Given the description of an element on the screen output the (x, y) to click on. 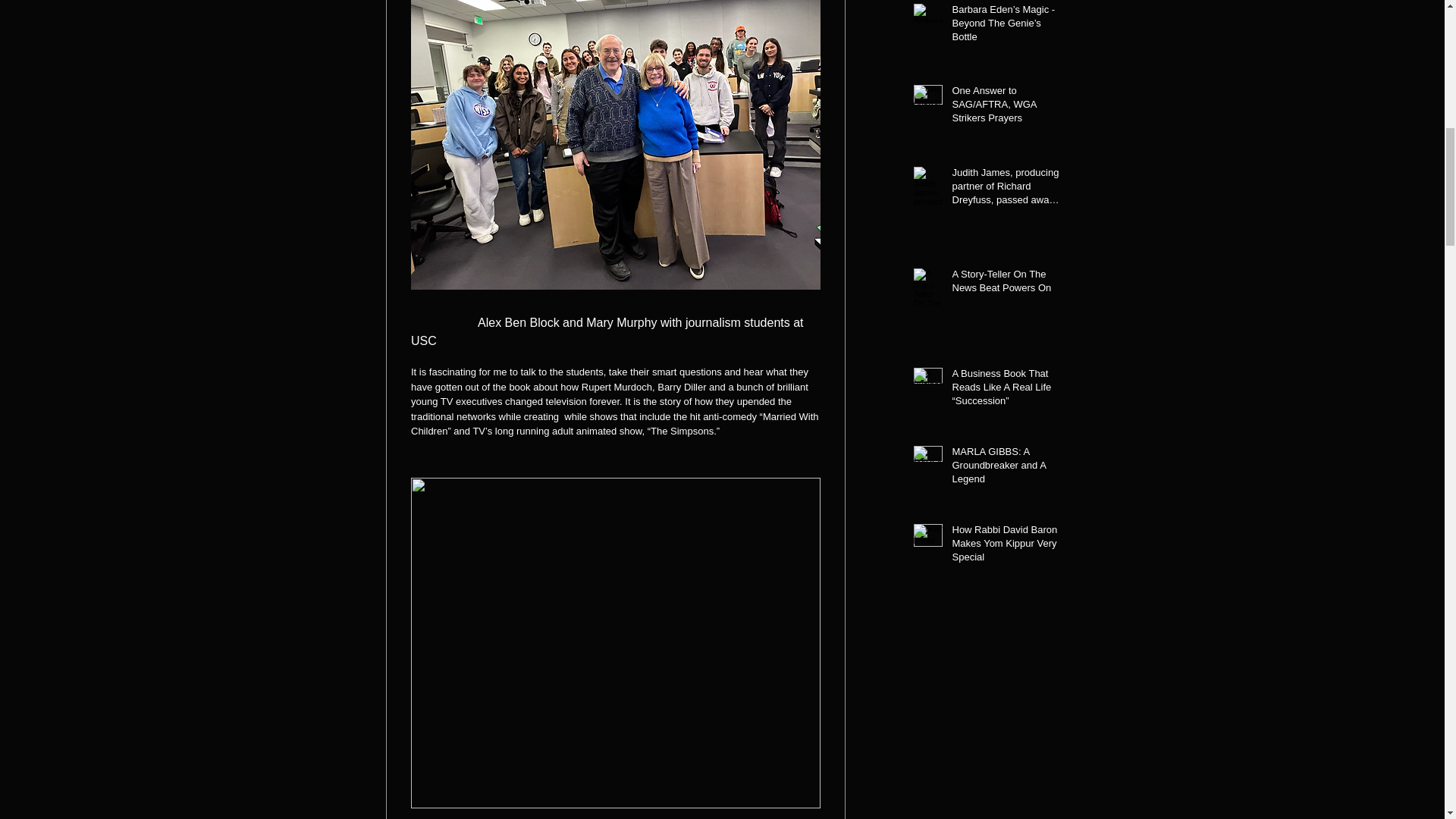
How Rabbi David Baron Makes Yom Kippur Very Special (1006, 546)
A Story-Teller On The News Beat Powers On (1006, 284)
MARLA GIBBS: A Groundbreaker and A Legend (1006, 469)
